Given the description of an element on the screen output the (x, y) to click on. 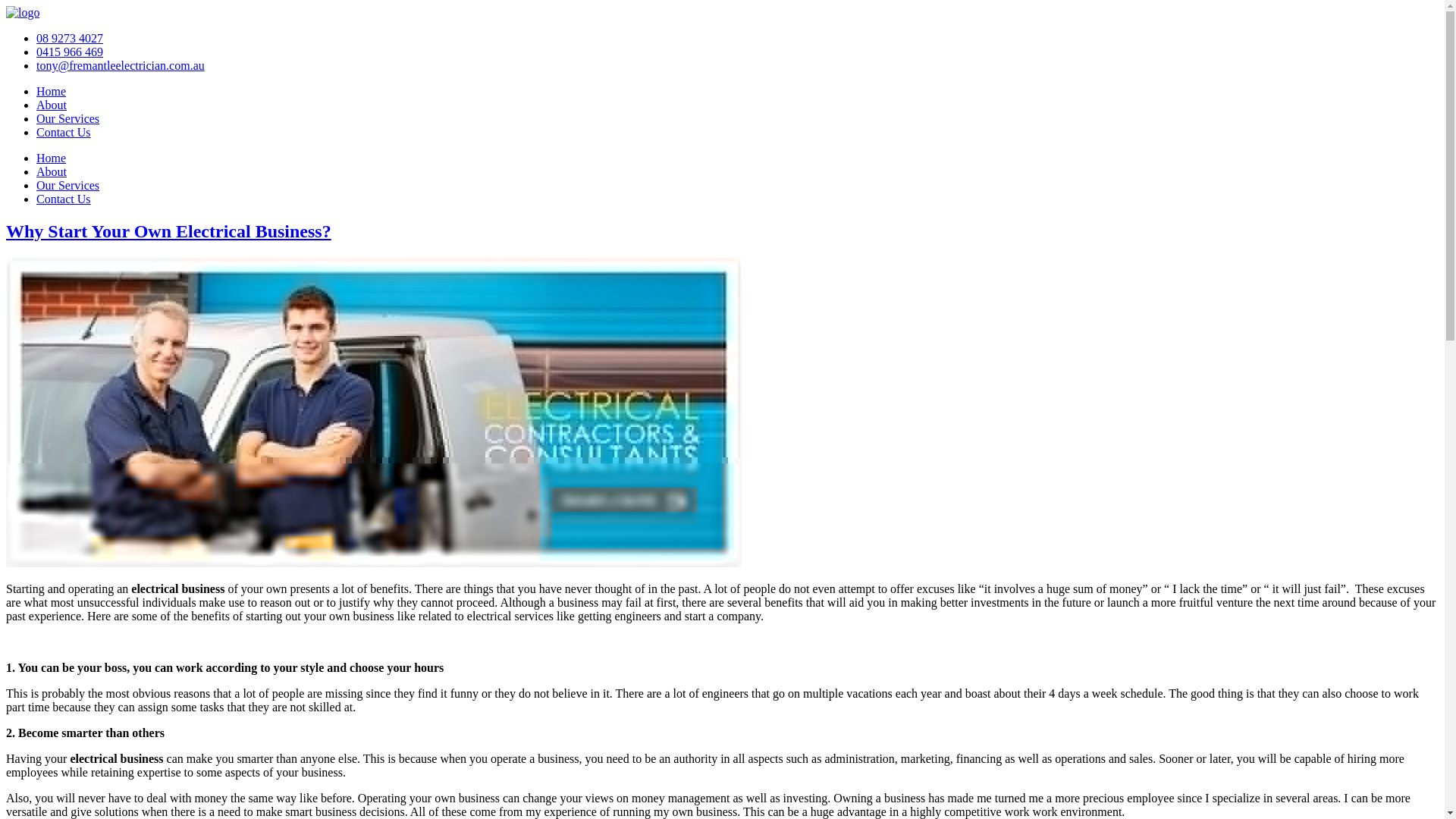
0415 966 469 (69, 51)
Contact Us (63, 198)
About (51, 104)
Why Start Your Own Electrical Business? (168, 230)
Home (50, 157)
08 9273 4027 (69, 38)
Contact Us (63, 132)
About (51, 171)
Our Services (67, 118)
Our Services (67, 185)
